Given the description of an element on the screen output the (x, y) to click on. 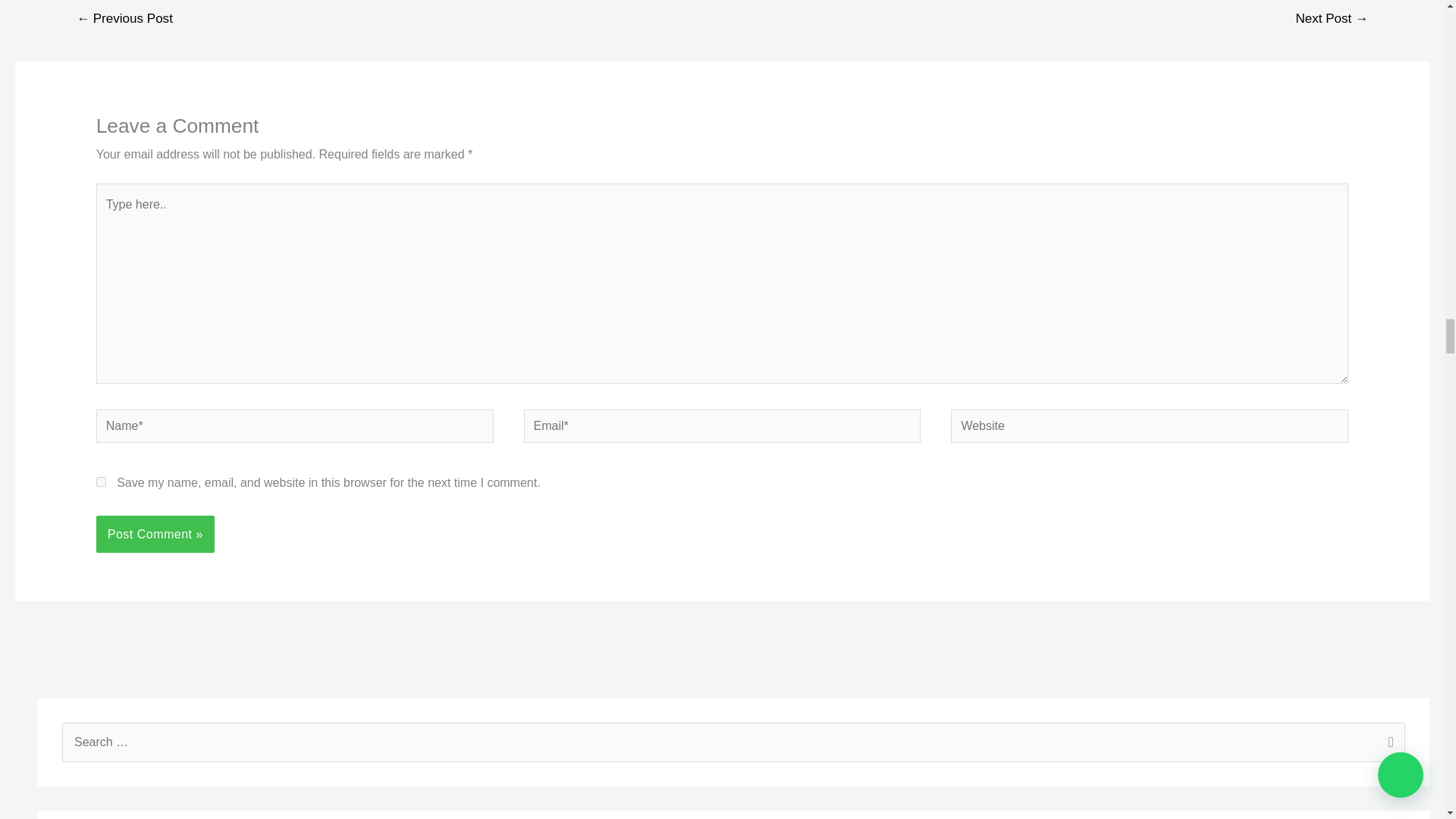
yes (101, 481)
